Given the description of an element on the screen output the (x, y) to click on. 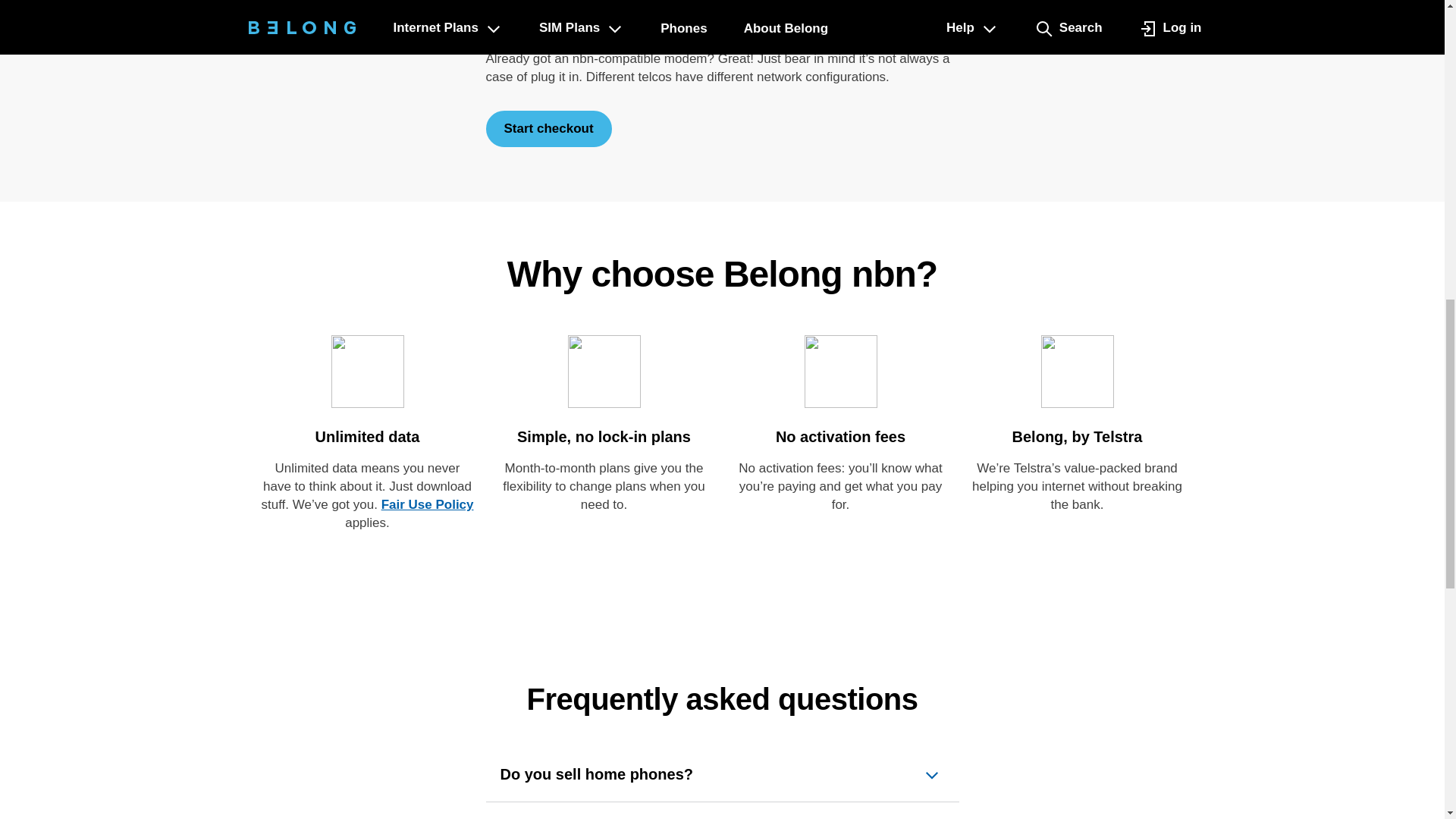
Do you sell home phones? (723, 774)
Fair Use Policy (427, 504)
Start checkout (547, 128)
